Given the description of an element on the screen output the (x, y) to click on. 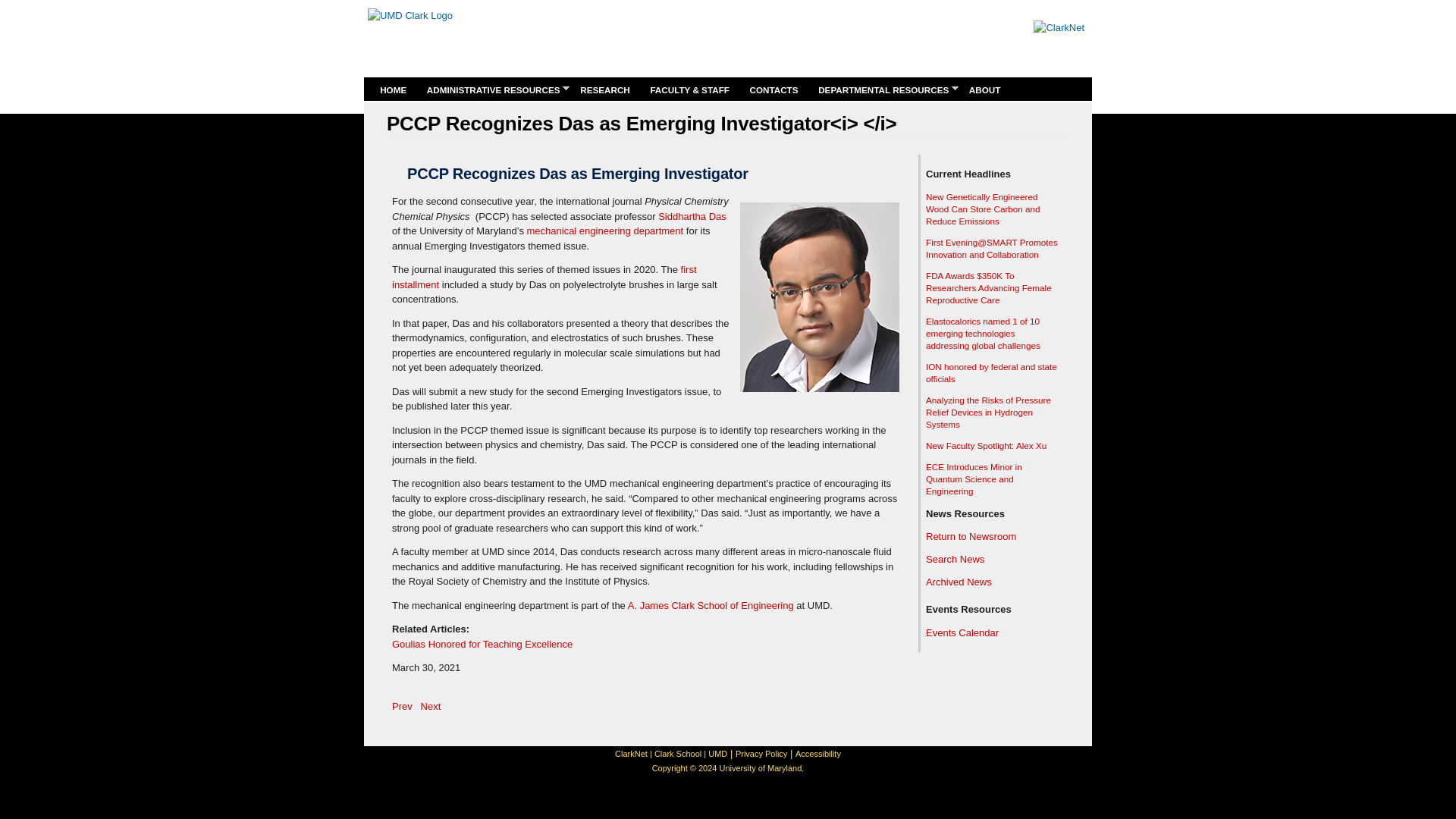
Goulias Honored for Teaching Excellence (481, 644)
RESEARCH (604, 89)
A. James Clark School of Engineering (710, 604)
Skip to main content (700, 1)
CONTACTS (773, 89)
Next (430, 706)
ABOUT (984, 89)
Prev (401, 706)
HOME (392, 89)
